Given the description of an element on the screen output the (x, y) to click on. 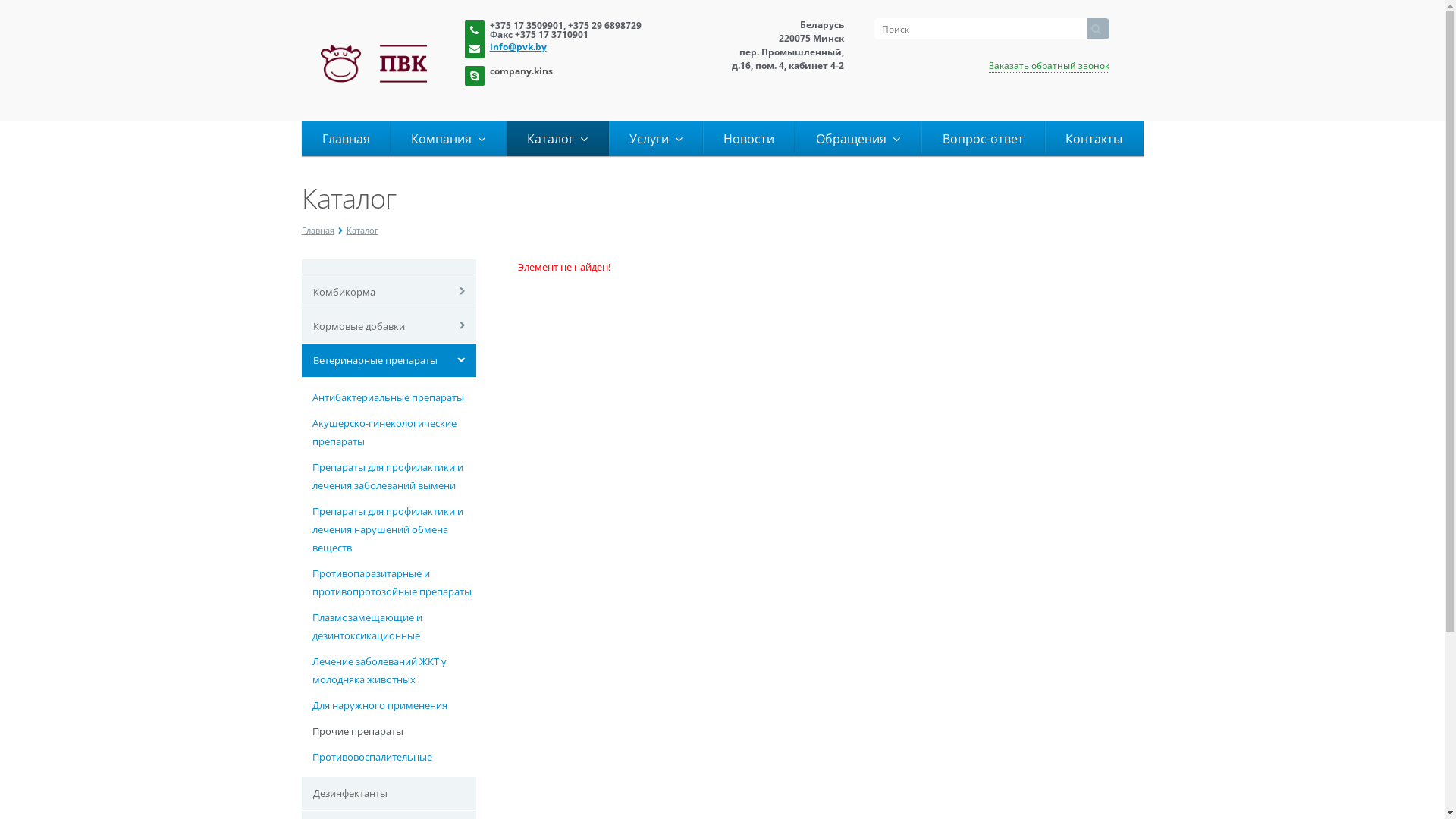
info@pvk.by Element type: text (577, 45)
